Given the description of an element on the screen output the (x, y) to click on. 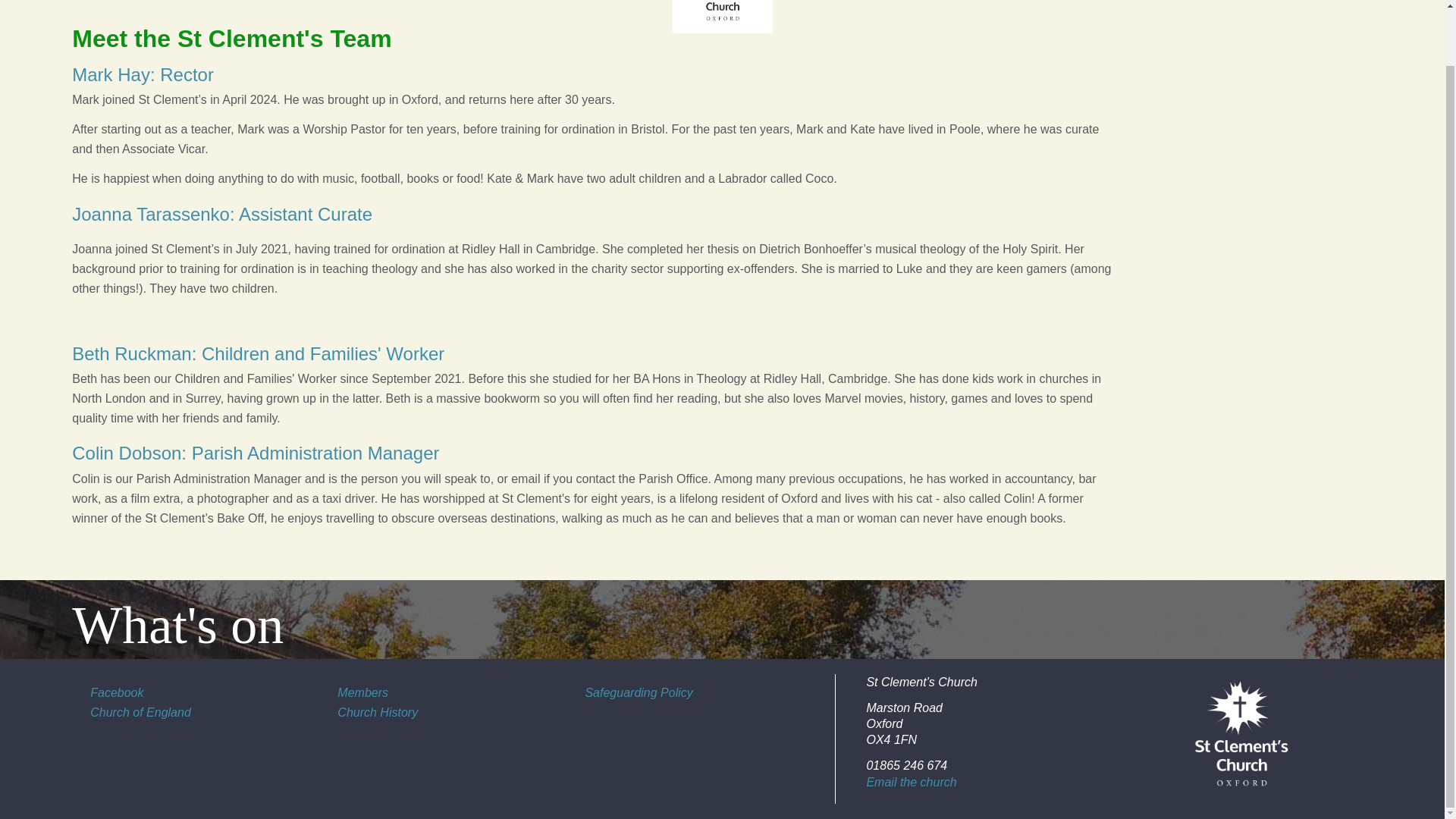
Church of England (140, 712)
Members (363, 692)
Safeguarding Policy (638, 692)
Church History (377, 712)
Facebook (116, 692)
